Given the description of an element on the screen output the (x, y) to click on. 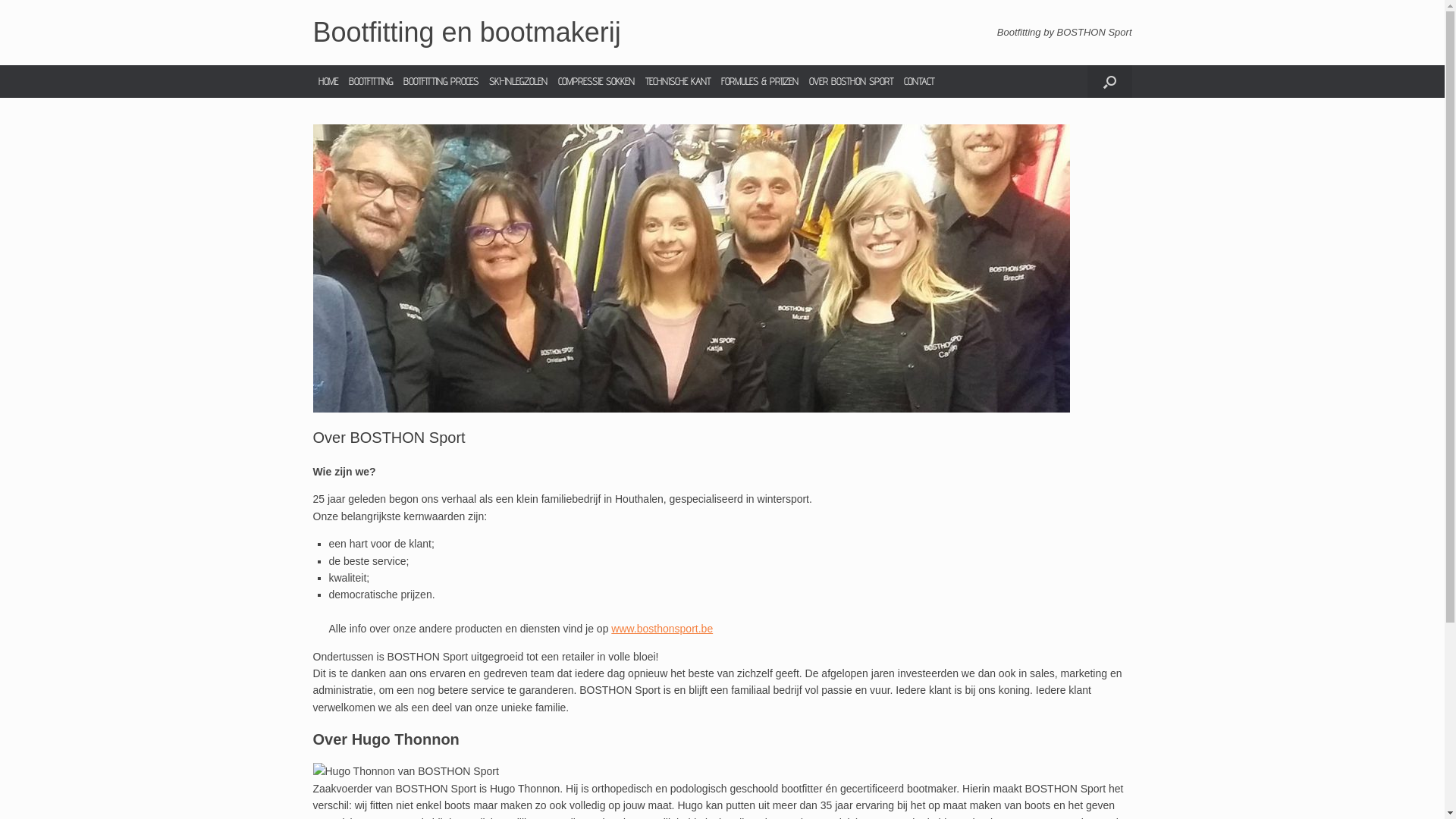
COMPRESSIE SOKKEN Element type: text (595, 81)
SKI-INLEGZOLEN Element type: text (517, 81)
BOOTFITTING Element type: text (369, 81)
FORMULES & PRIJZEN Element type: text (759, 81)
TECHNISCHE KANT Element type: text (677, 81)
HOME Element type: text (327, 81)
BOOTFITTING PROCES Element type: text (440, 81)
www.bosthonsport.be Element type: text (661, 628)
Bootfitting en bootmakerij Element type: text (466, 32)
CONTACT Element type: text (917, 81)
OVER BOSTHON SPORT Element type: text (850, 81)
Skip to content Element type: text (0, 0)
